Given the description of an element on the screen output the (x, y) to click on. 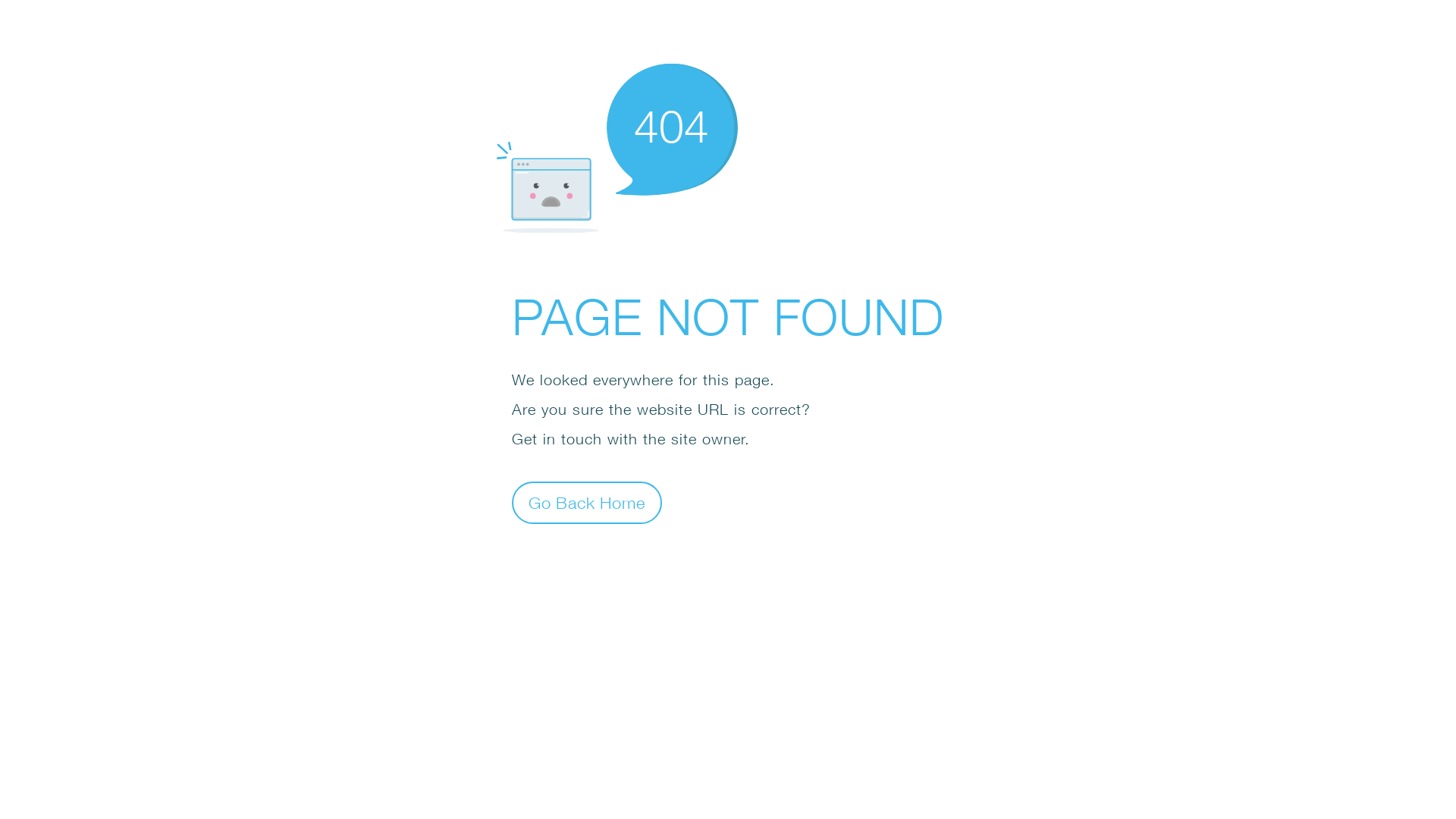
Go Back Home Element type: text (586, 502)
